Given the description of an element on the screen output the (x, y) to click on. 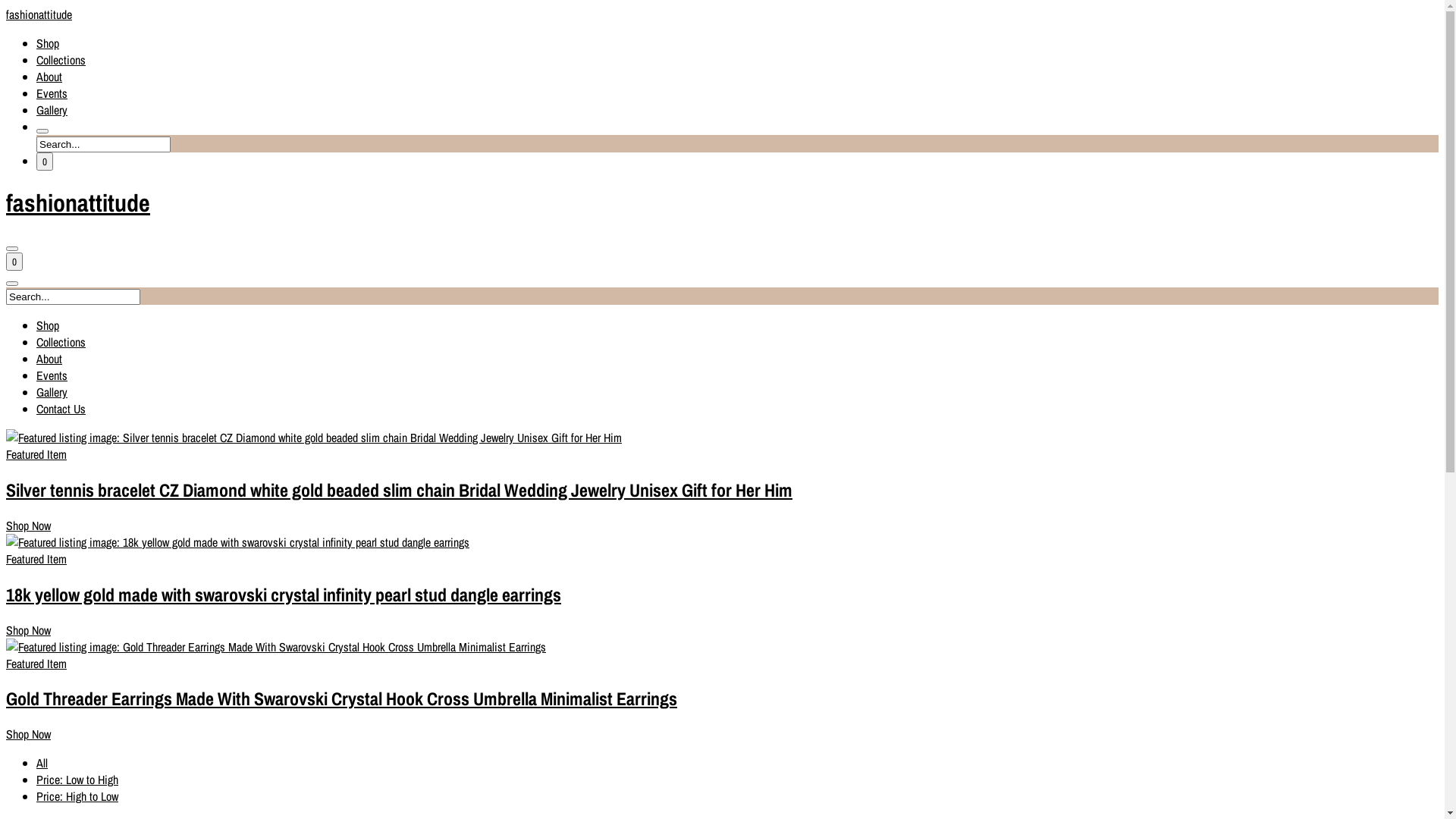
Gallery Element type: text (51, 109)
fashionattitude Element type: text (722, 14)
Shop Element type: text (47, 324)
Price: High to Low Element type: text (77, 795)
0 Element type: text (14, 261)
About Element type: text (49, 76)
0 Element type: text (44, 161)
About Element type: text (49, 358)
Contact Us Element type: text (60, 408)
Price: Low to High Element type: text (77, 779)
Events Element type: text (51, 92)
Shop Element type: text (47, 42)
Gallery Element type: text (51, 391)
fashionattitude Element type: text (722, 202)
Collections Element type: text (60, 59)
Events Element type: text (51, 375)
Collections Element type: text (60, 341)
All Element type: text (41, 762)
